Given the description of an element on the screen output the (x, y) to click on. 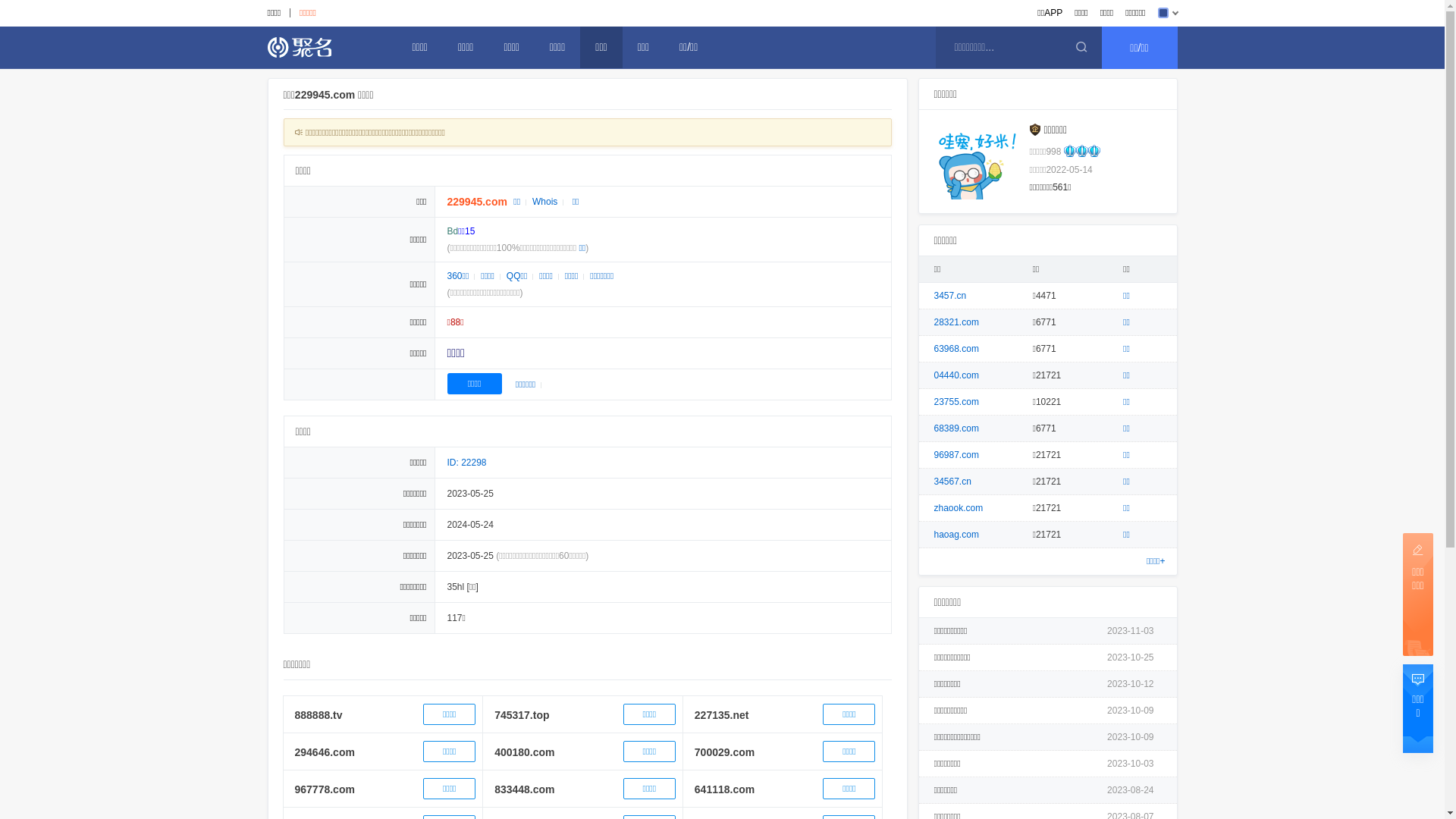
ID: 22298 Element type: text (466, 462)
zhaook.com Element type: text (958, 507)
68389.com Element type: text (956, 428)
04440.com Element type: text (956, 375)
34567.cn Element type: text (952, 481)
Whois Element type: text (544, 201)
3457.cn Element type: text (950, 295)
63968.com Element type: text (956, 348)
28321.com Element type: text (956, 321)
23755.com Element type: text (956, 401)
haoag.com Element type: text (956, 534)
96987.com Element type: text (956, 454)
